Given the description of an element on the screen output the (x, y) to click on. 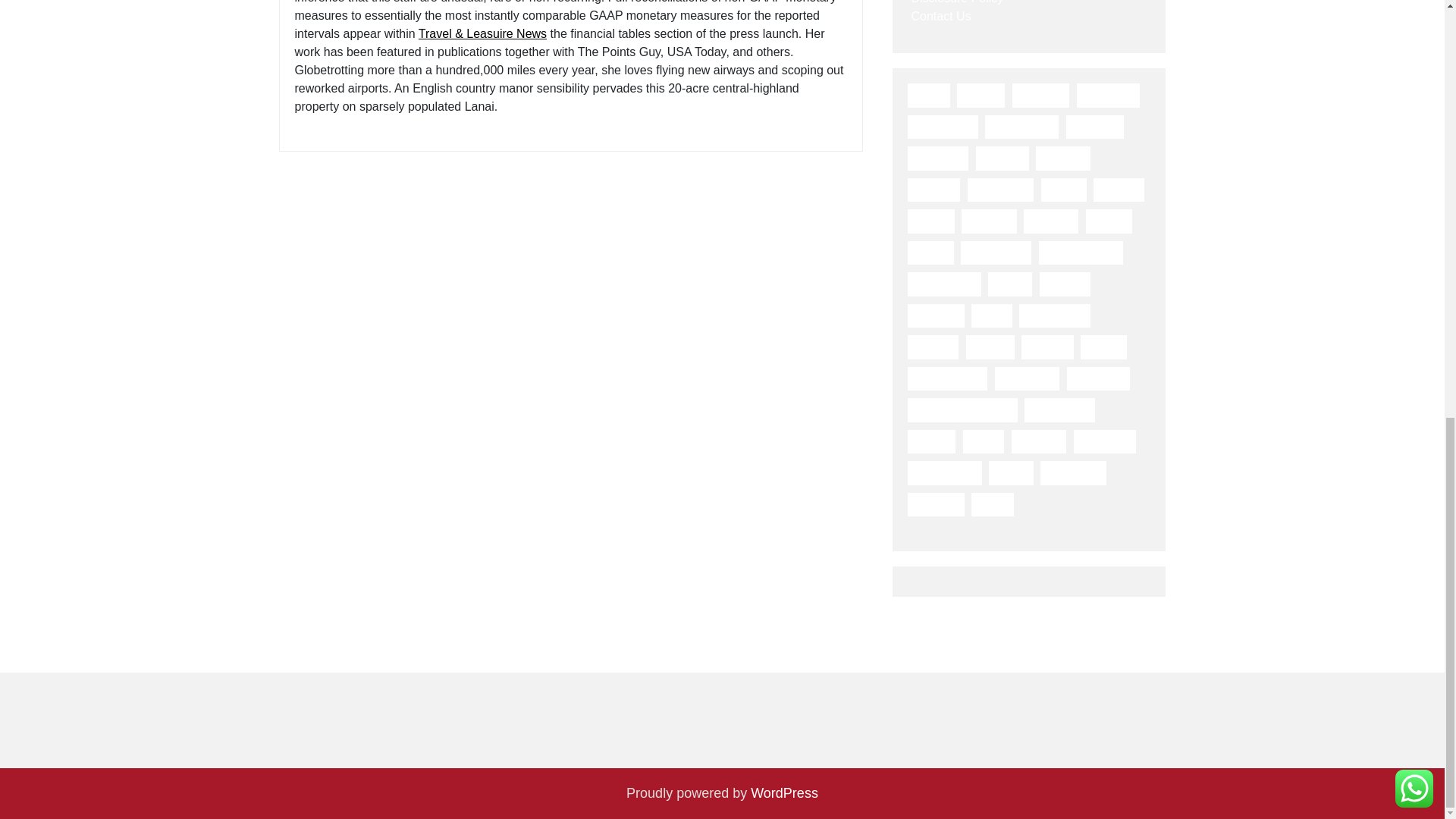
Faculty (1118, 190)
Education (1000, 190)
Divorce (933, 190)
Attorney (1039, 95)
About (928, 95)
Fashion (988, 221)
Automotive (1021, 126)
Advice (980, 95)
Authorized (941, 126)
Harvard (1050, 221)
Attorneys (1108, 95)
Barrister (1094, 126)
Business (937, 158)
Estate (1063, 190)
College (1002, 158)
